Given the description of an element on the screen output the (x, y) to click on. 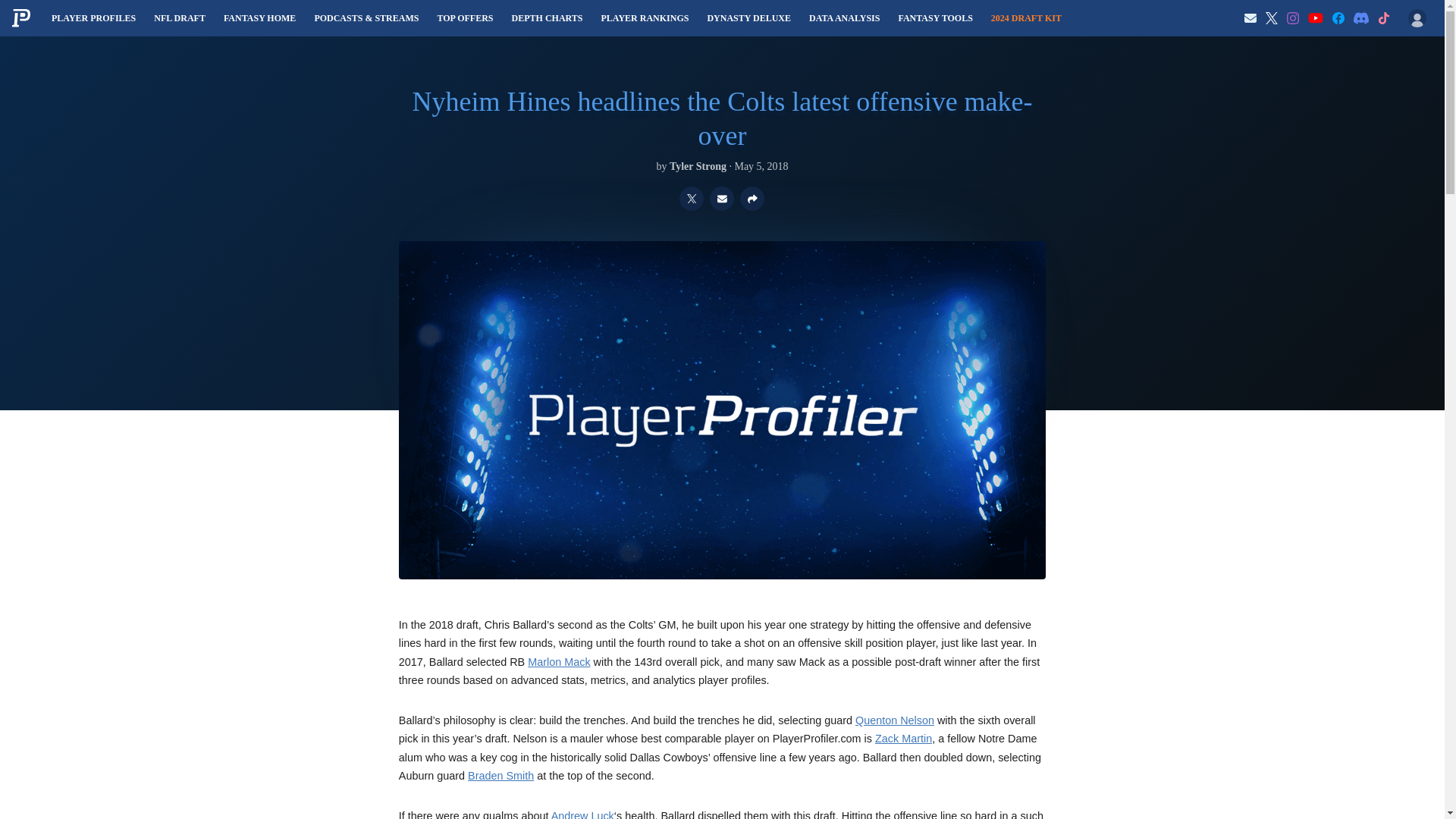
RotoUnderworld on Facebook (1337, 18)
PlayerProfiler on X (1271, 18)
RotoUnderworld on YouTube (1315, 17)
RotoUnderworld on Discord (1361, 17)
RotoUnderworld on Tiktok (1383, 18)
TOP OFFERS (465, 18)
FANTASY HOME (259, 18)
DEPTH CHARTS (547, 18)
NFL DRAFT (179, 18)
RotoUnderworld on Instagram (1292, 18)
